Given the description of an element on the screen output the (x, y) to click on. 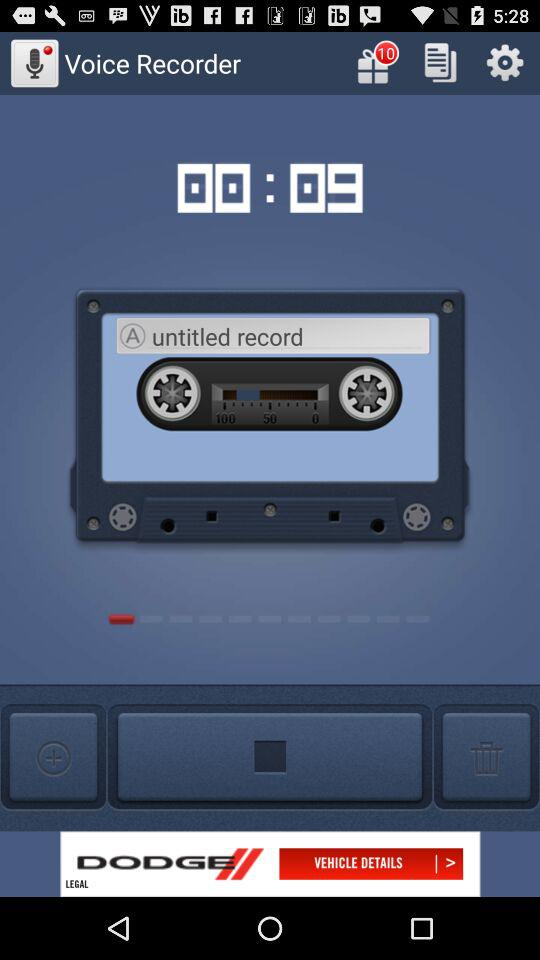
setting (504, 62)
